Given the description of an element on the screen output the (x, y) to click on. 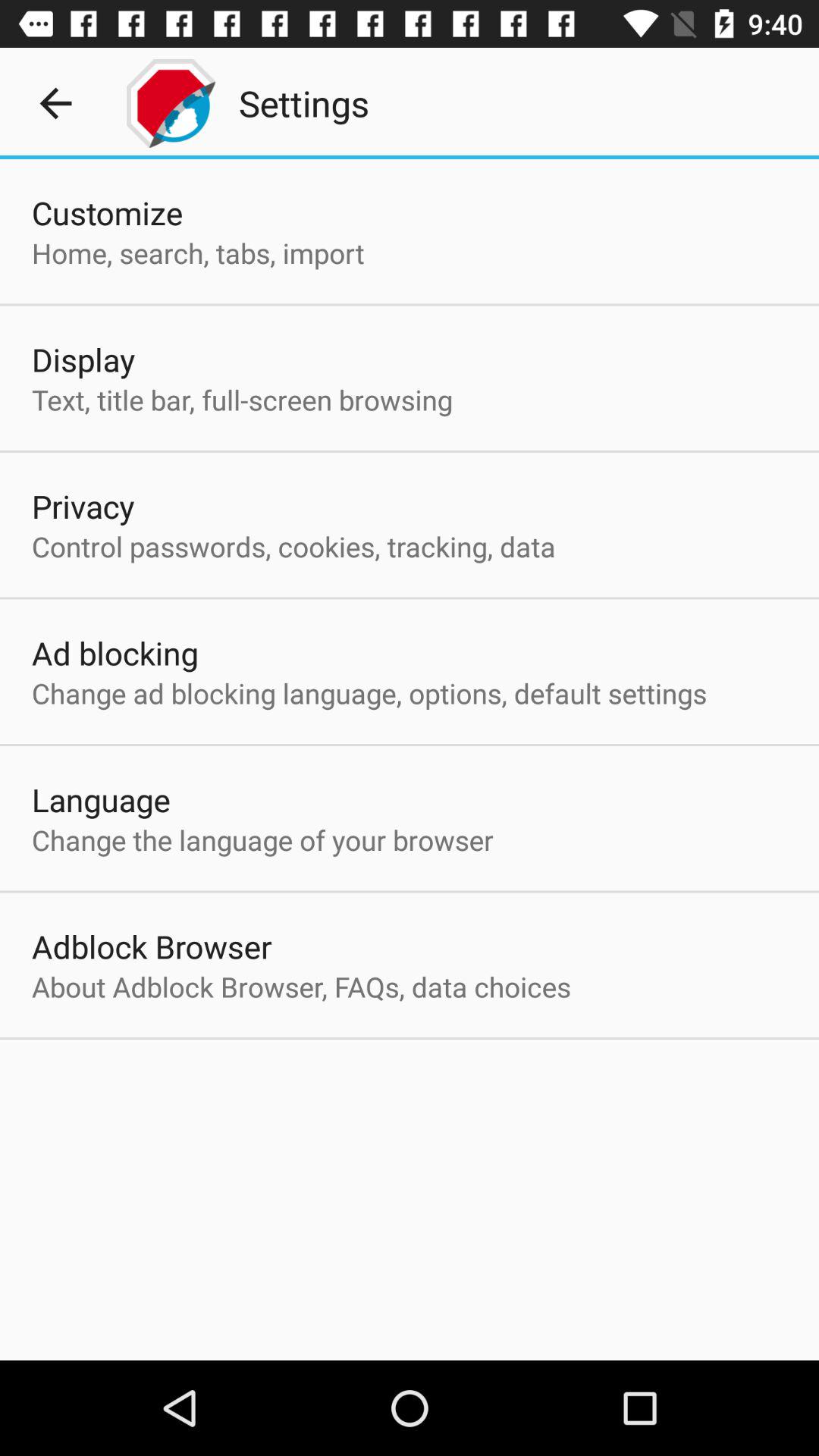
press the item above the ad blocking (293, 546)
